Given the description of an element on the screen output the (x, y) to click on. 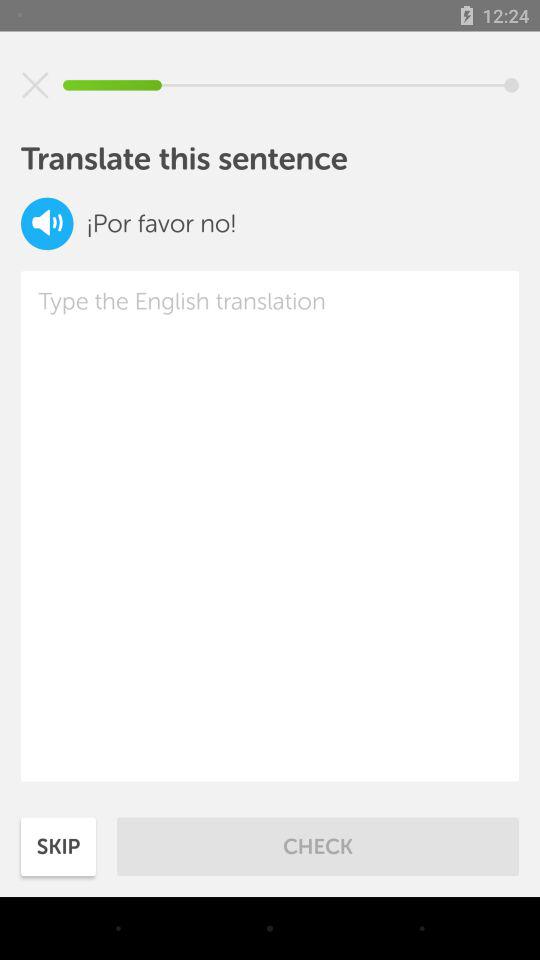
press skip icon (58, 846)
